Given the description of an element on the screen output the (x, y) to click on. 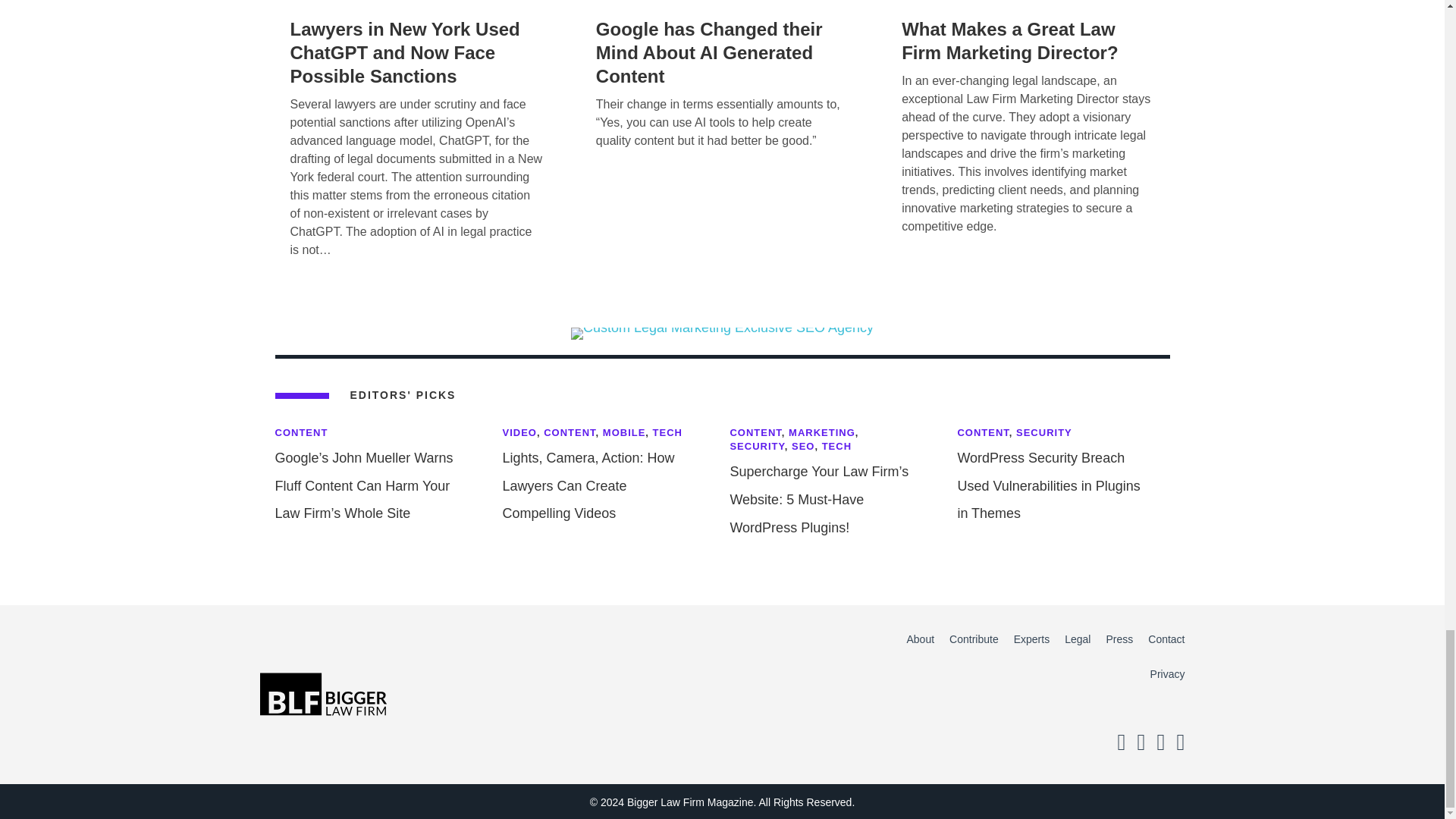
Custom Legal Marketing Exclusive SEO Agency (721, 333)
Google has Changed their Mind About AI Generated Content (708, 52)
What Makes a Great Law Firm Marketing Director? (1009, 40)
